Given the description of an element on the screen output the (x, y) to click on. 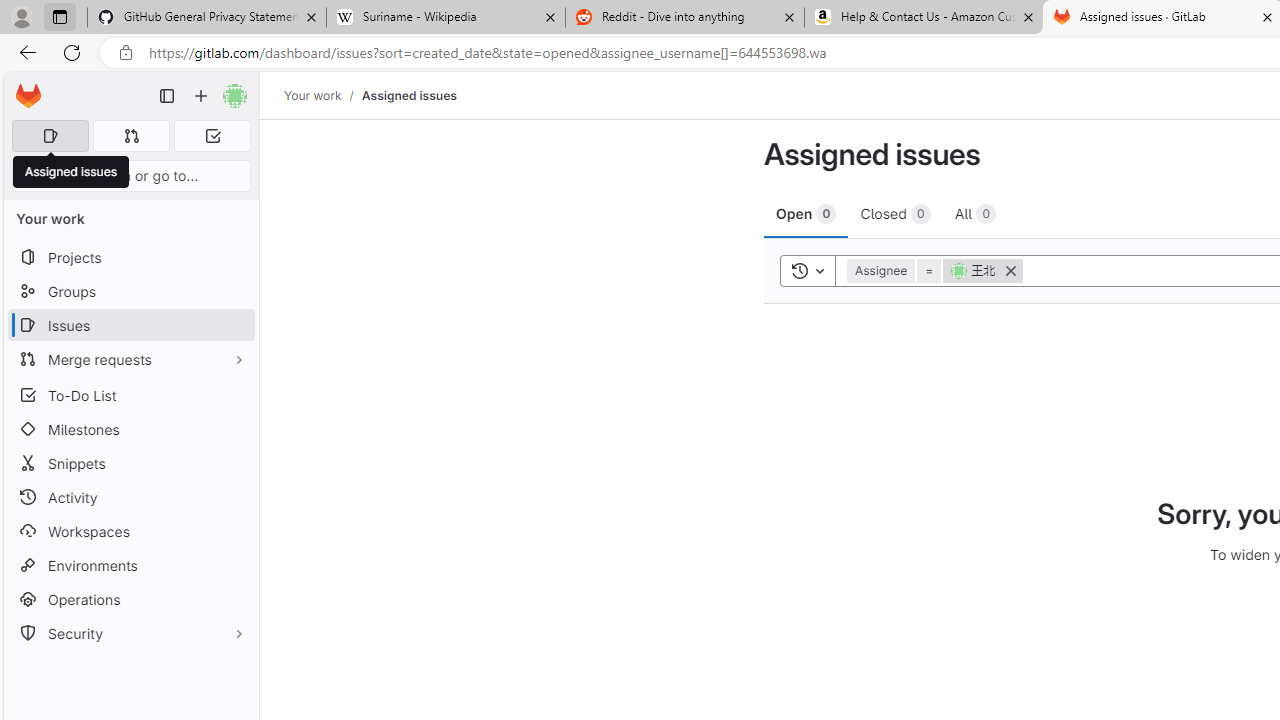
Merge requests 0 (131, 136)
All 0 (975, 213)
Issues (130, 325)
Open 0 (806, 213)
Toggle history (807, 270)
Your work (312, 95)
Security (130, 633)
Operations (130, 599)
